Given the description of an element on the screen output the (x, y) to click on. 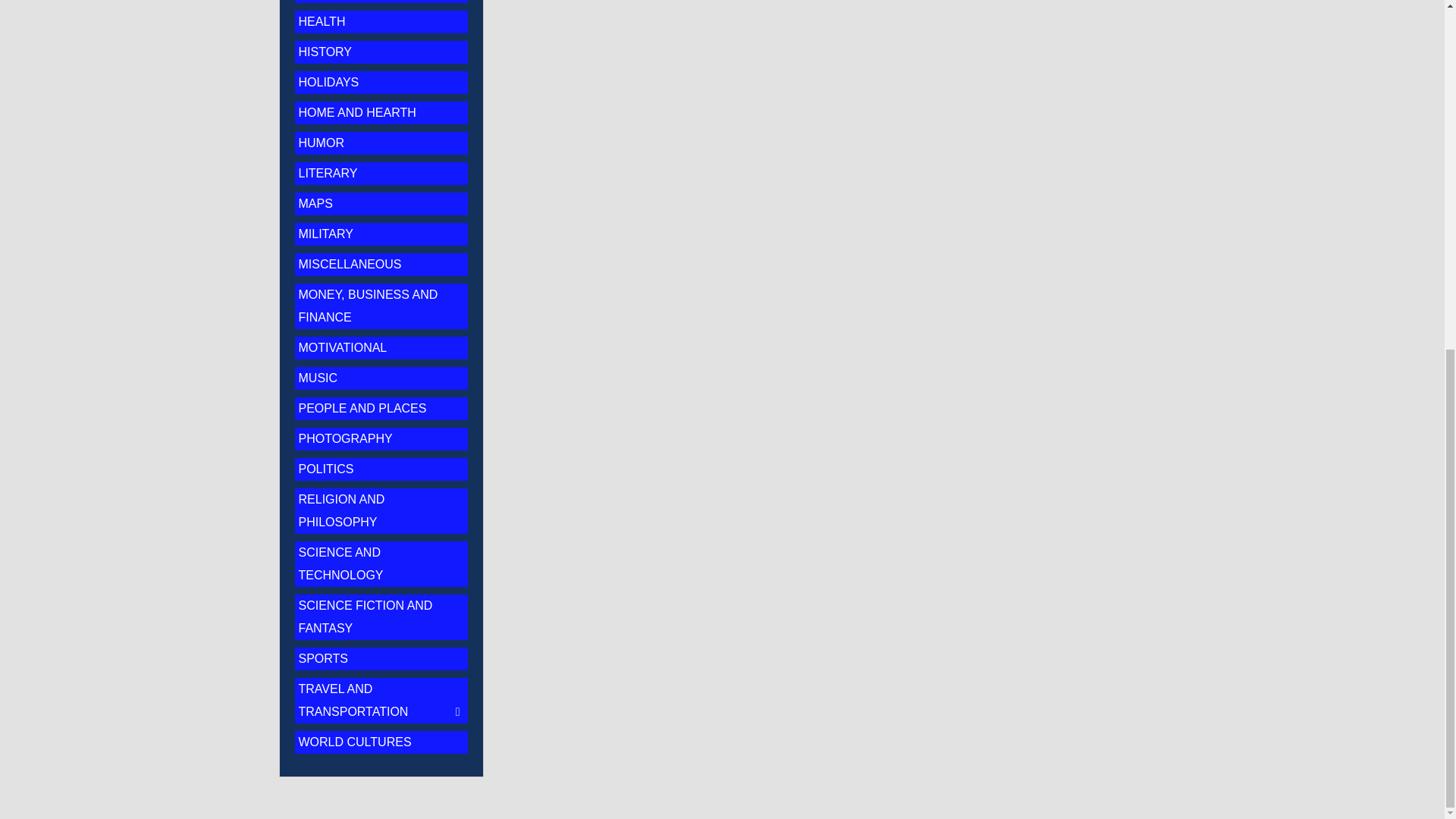
LITERARY (328, 173)
MAPS (315, 203)
HUMOR (320, 142)
MISCELLANEOUS (349, 264)
MUSIC (317, 377)
PHOTOGRAPHY (345, 438)
MILITARY (325, 233)
HOLIDAYS (328, 82)
MONEY, BUSINESS AND FINANCE (368, 305)
HOME AND HEARTH (357, 112)
MOTIVATIONAL (342, 347)
HISTORY (325, 51)
PEOPLE AND PLACES (362, 408)
HEALTH (322, 21)
